Given the description of an element on the screen output the (x, y) to click on. 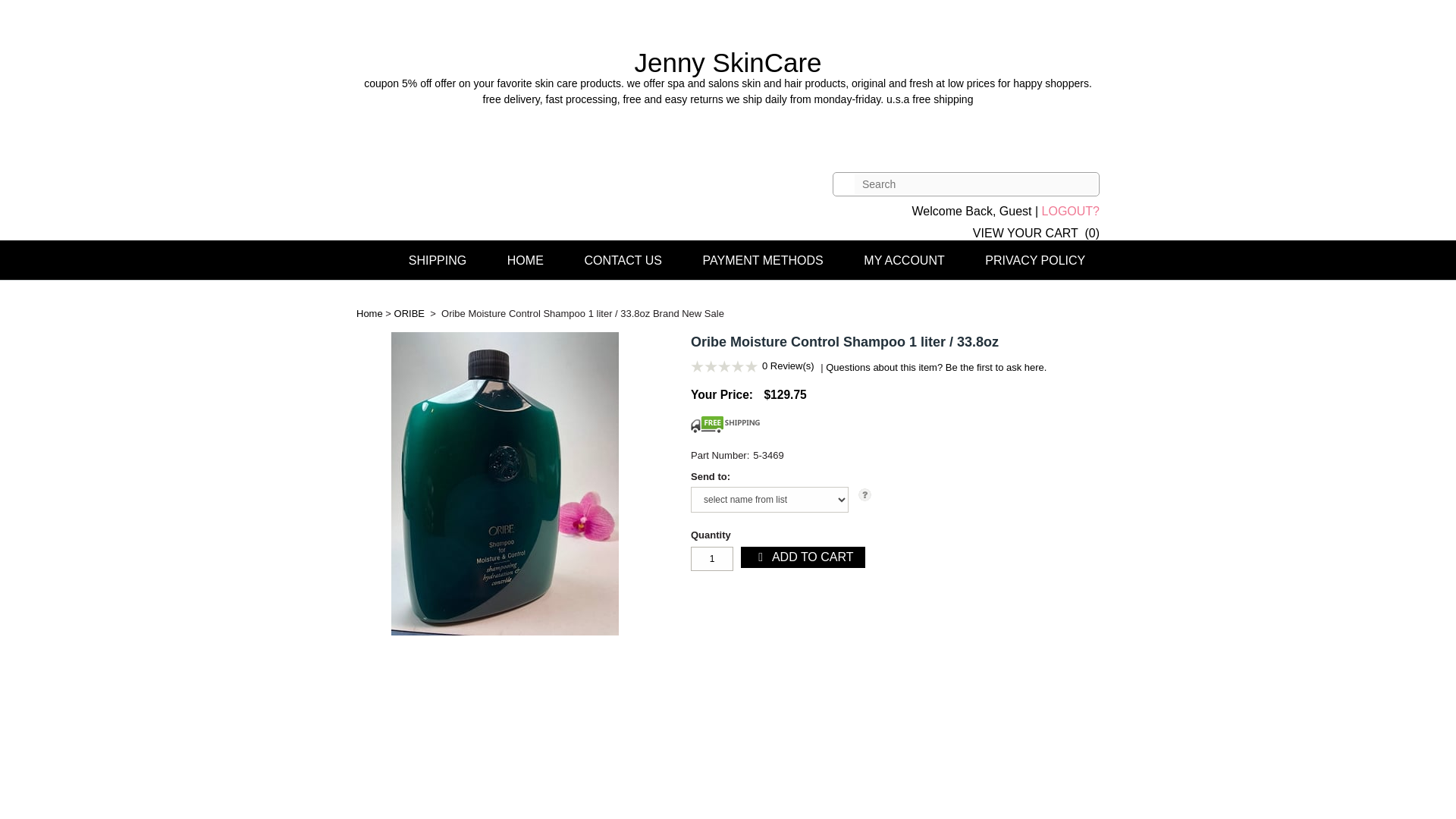
HOME (524, 259)
MY ACCOUNT (903, 259)
Jenny SkinCare (727, 78)
1 (711, 558)
CONTACT US (622, 259)
SHIPPING (437, 259)
PAYMENT METHODS (763, 259)
PRIVACY POLICY (1034, 259)
LOGOUT? (1070, 210)
Guest (1015, 210)
